Given the description of an element on the screen output the (x, y) to click on. 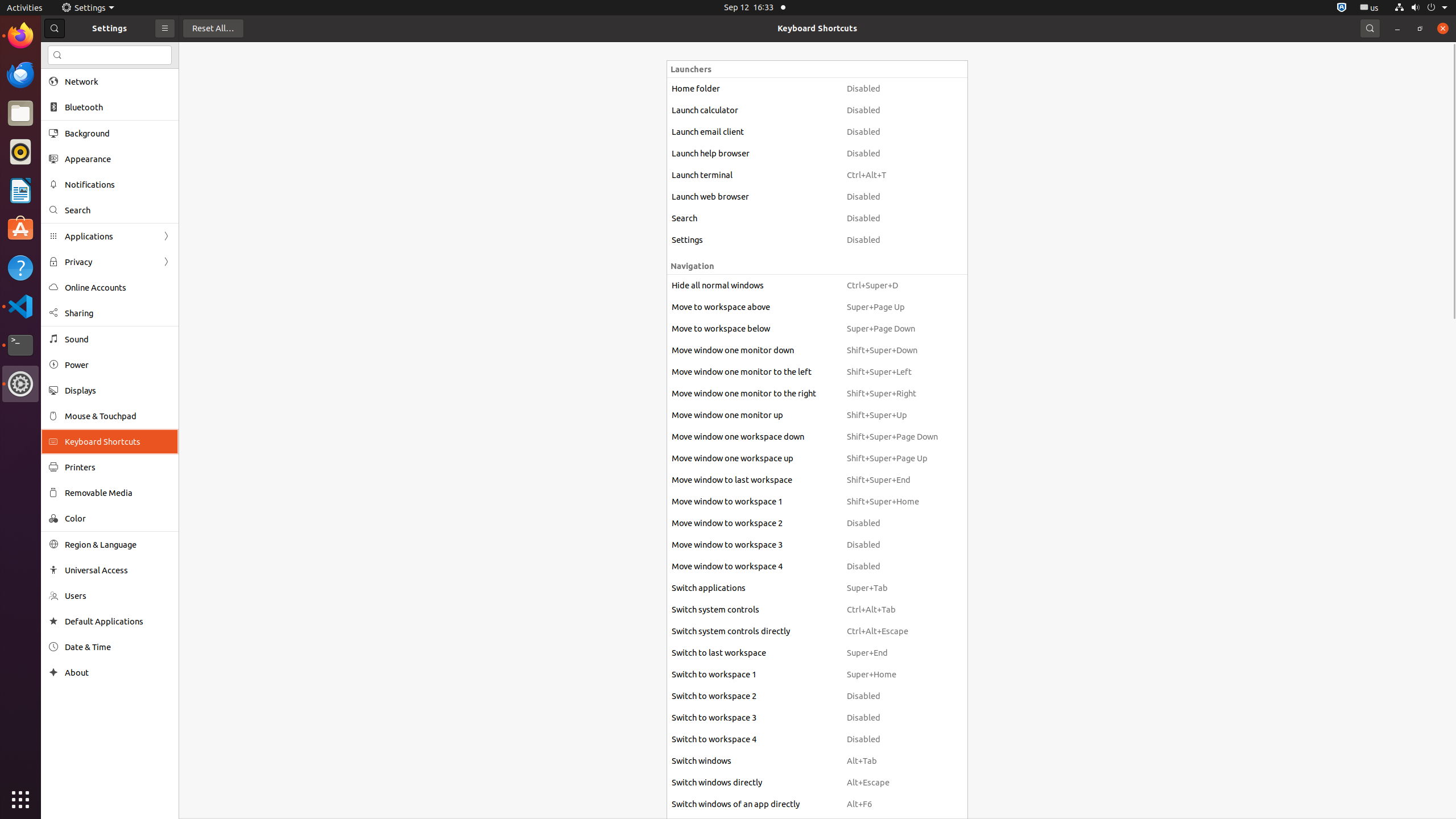
Move window to workspace 2 Element type: label (753, 522)
Switch to workspace 3 Element type: label (753, 717)
Terminal Element type: push-button (20, 344)
Search Element type: label (117, 209)
Super+Page Up Element type: label (891, 306)
